Given the description of an element on the screen output the (x, y) to click on. 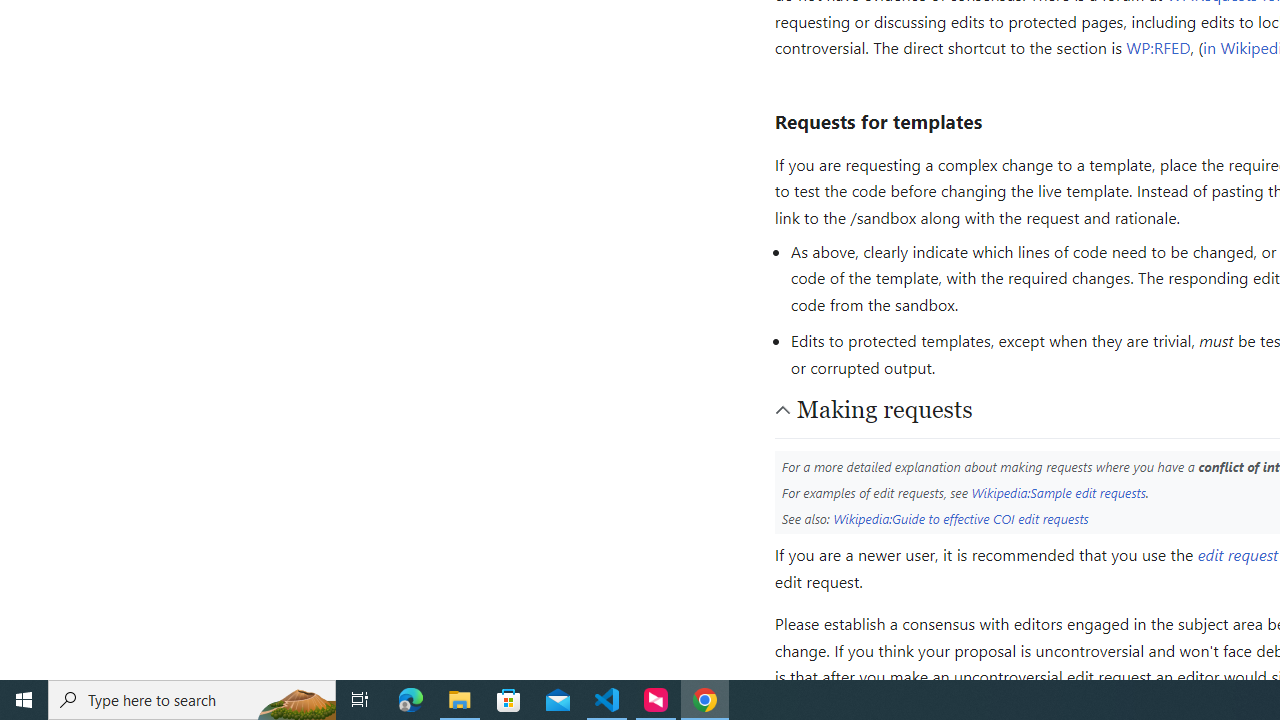
Wikipedia:Sample edit requests (1058, 492)
WP:RFED (1158, 47)
Wikipedia:Guide to effective COI edit requests (961, 518)
